Given the description of an element on the screen output the (x, y) to click on. 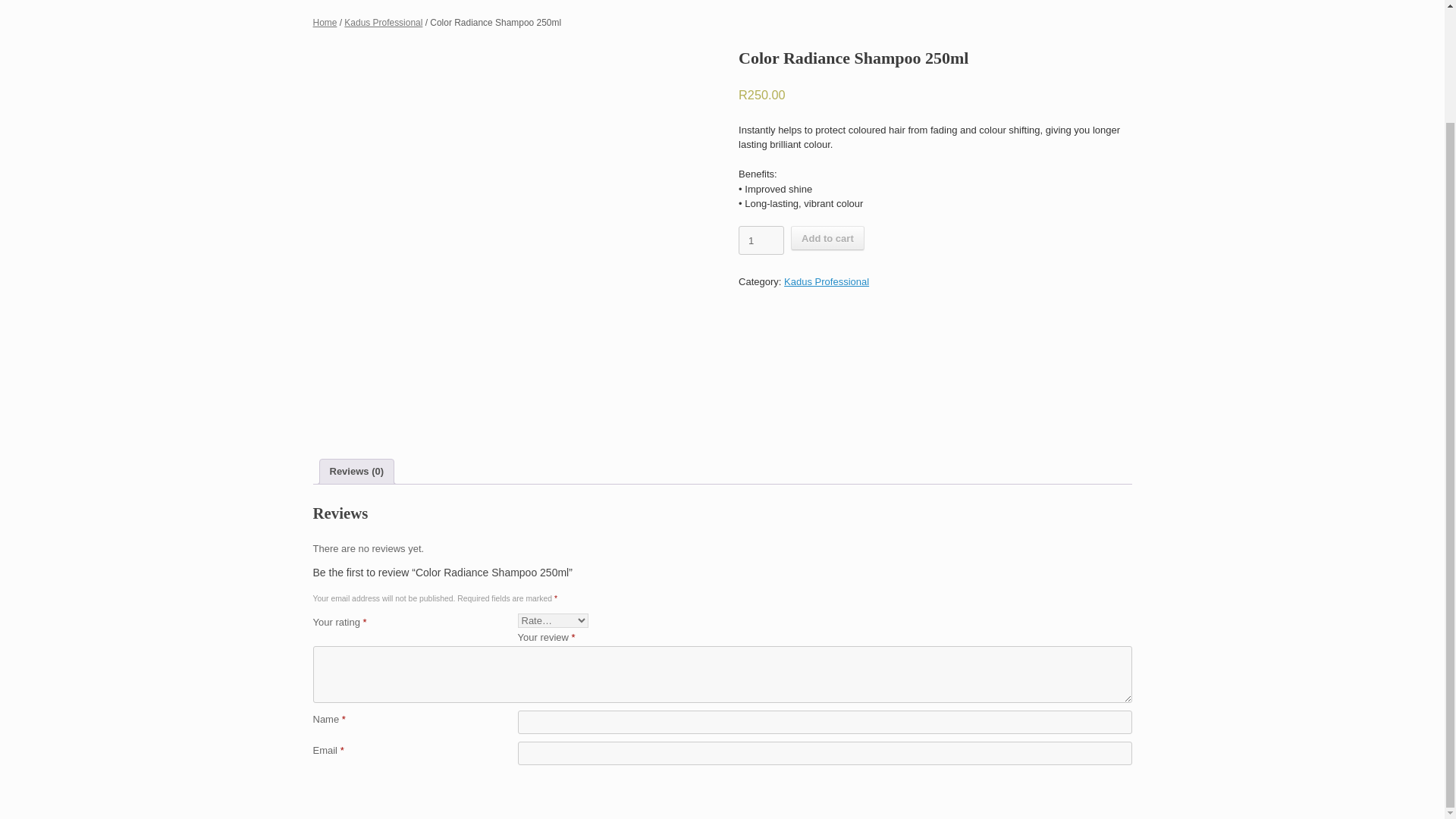
1 (761, 240)
Kadus Professional (382, 22)
Home (324, 22)
Add to cart (827, 237)
Kadus Professional (826, 281)
